Given the description of an element on the screen output the (x, y) to click on. 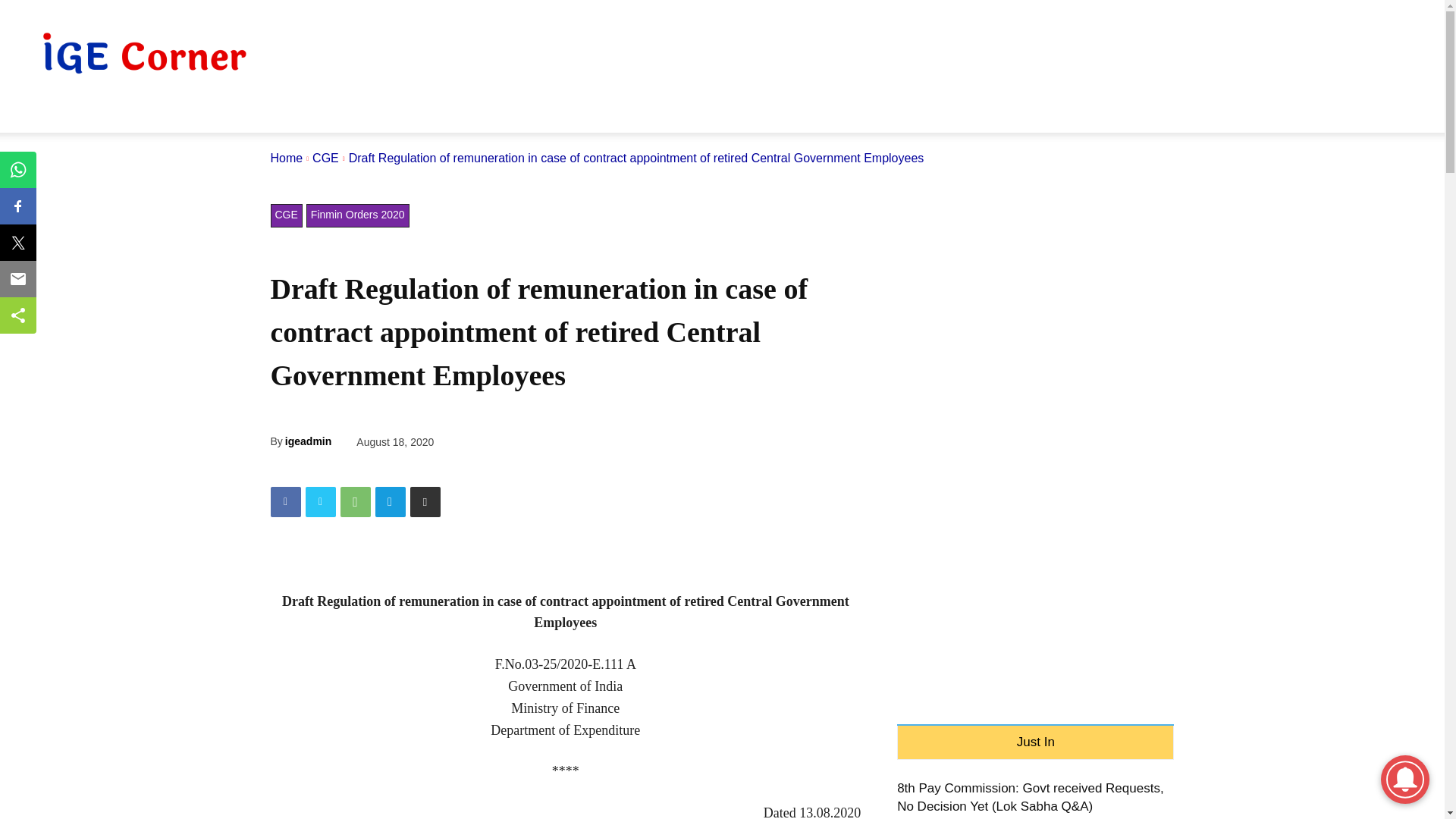
7th Pay Commission (101, 114)
Twitter (319, 501)
HOME (41, 114)
WhatsApp (354, 501)
7TH CPC (101, 114)
Advertisement (1153, 55)
View all posts in CGE (326, 157)
Facebook (284, 501)
Print (424, 501)
Telegram (389, 501)
DA Calculation  Sheet (452, 114)
DOPT ORDERS 2024 (204, 114)
